Given the description of an element on the screen output the (x, y) to click on. 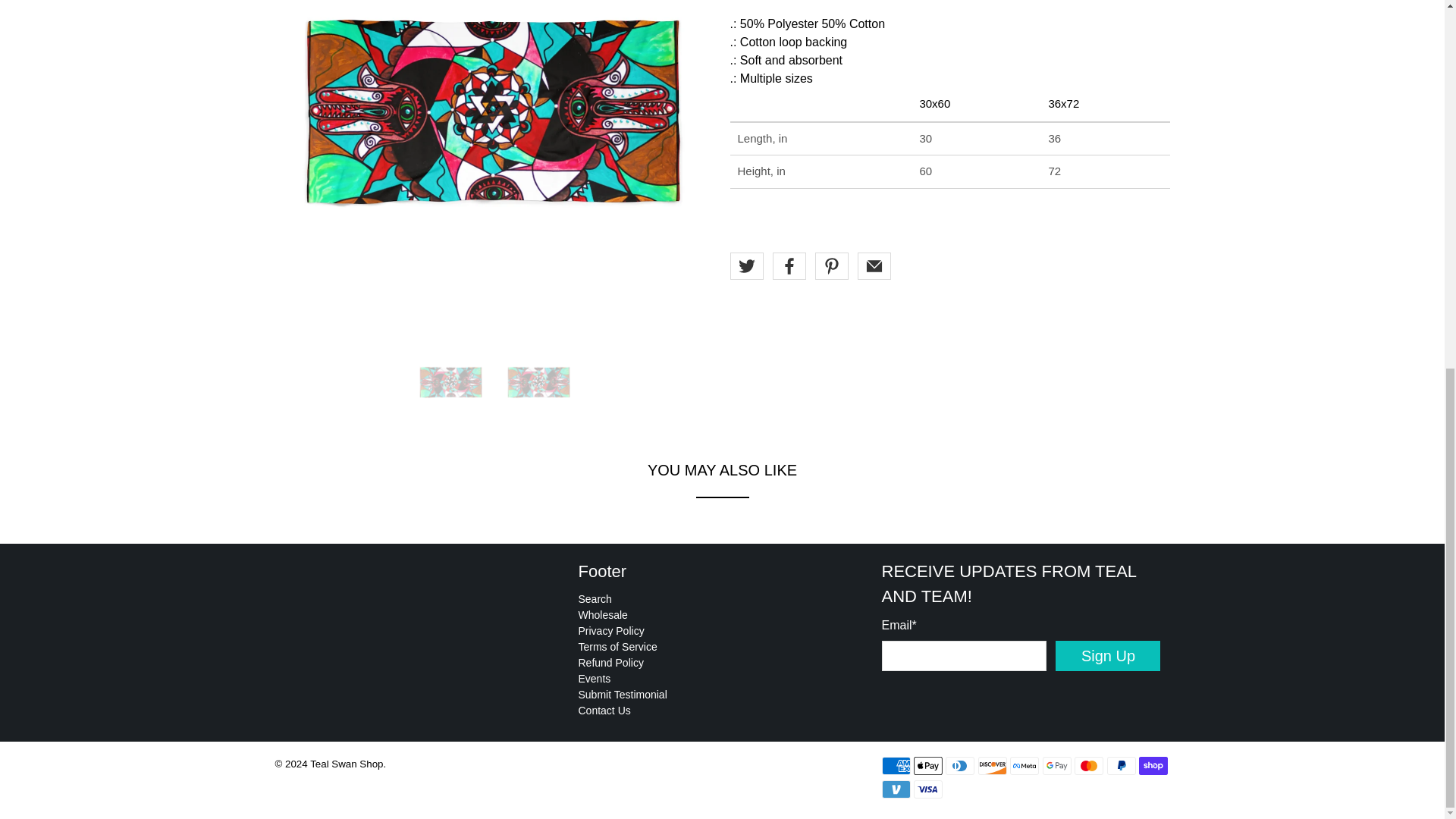
Share this on Facebook (788, 266)
Meta Pay (1024, 765)
Google Pay (1056, 765)
Share this on Twitter (745, 266)
Email this to a friend (873, 266)
Mastercard (1088, 765)
American Express (895, 765)
Discover (992, 765)
PayPal (1120, 765)
Apple Pay (928, 765)
